Given the description of an element on the screen output the (x, y) to click on. 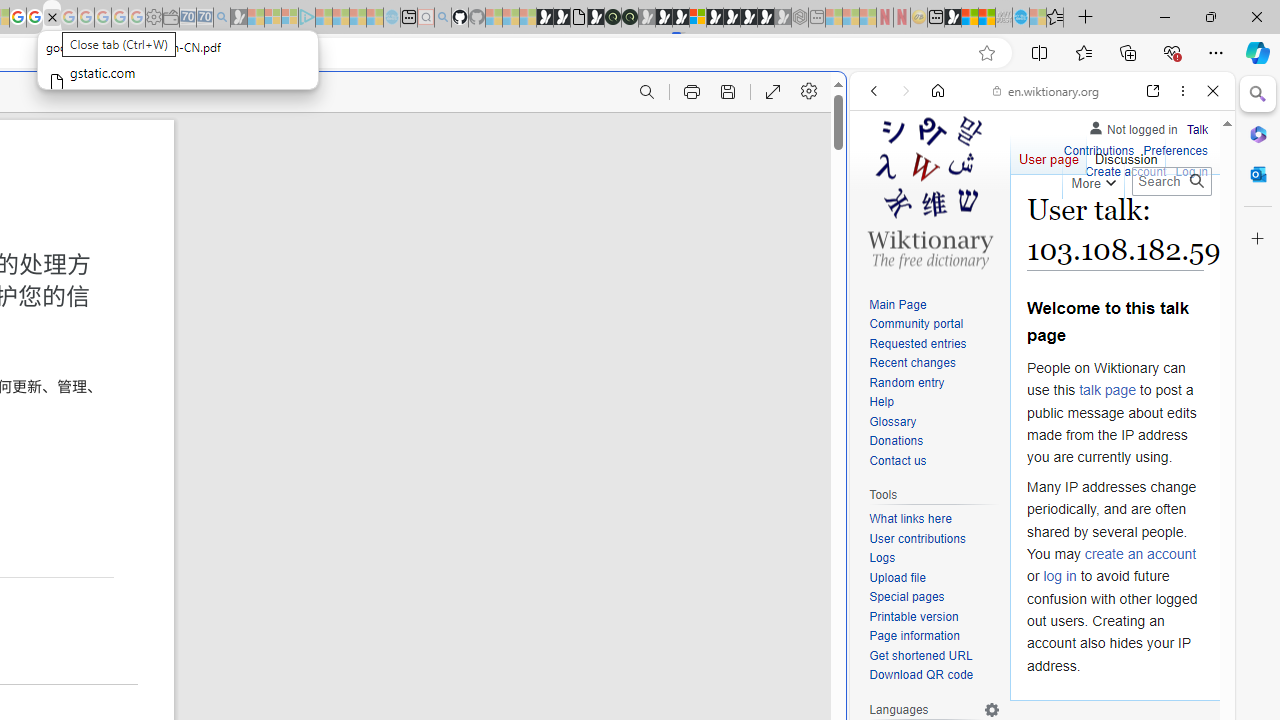
Recent changes (912, 362)
